Given the description of an element on the screen output the (x, y) to click on. 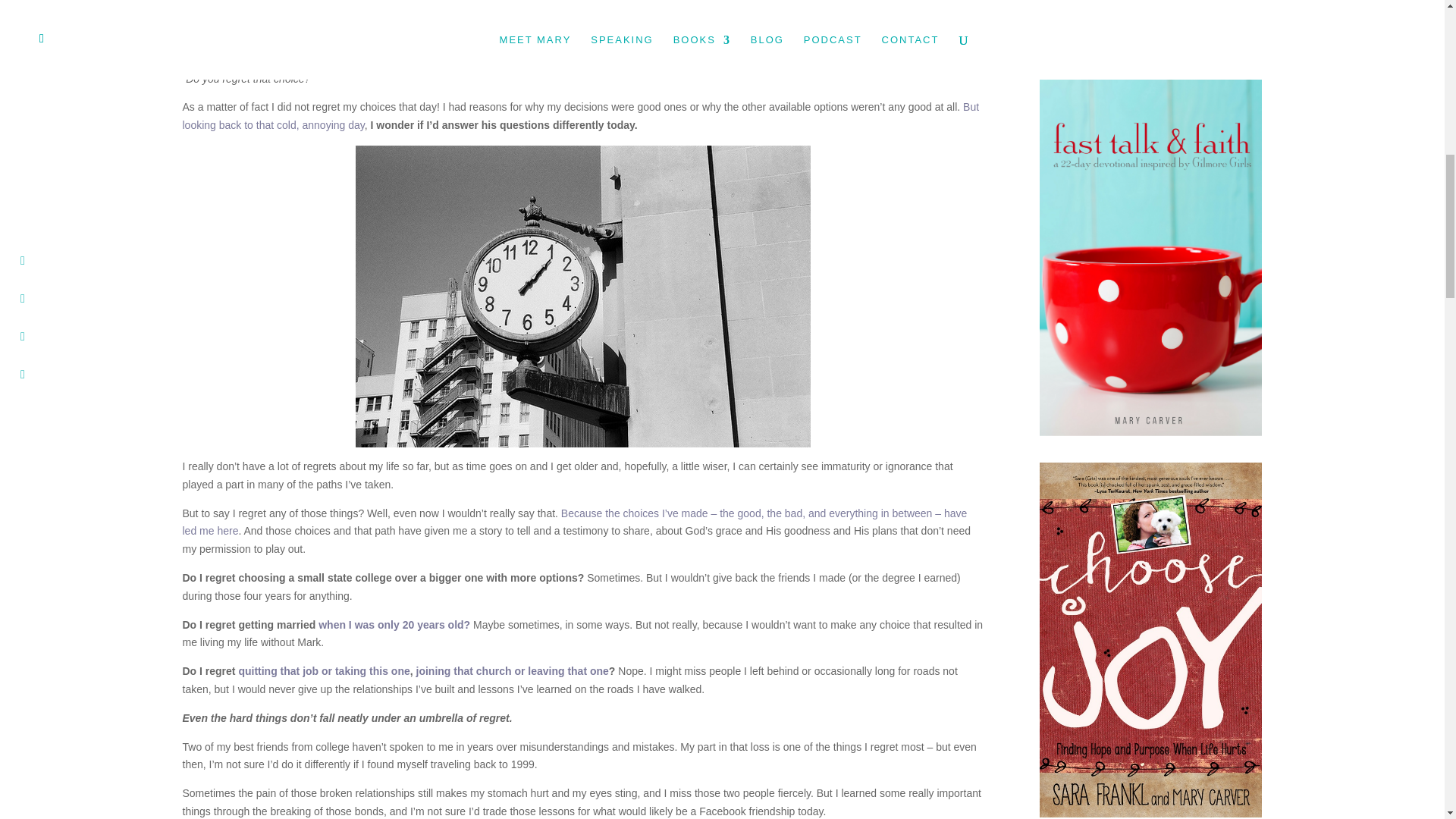
But looking back to that cold, annoying day (580, 115)
joining that church or leaving that one (511, 671)
when I was only 20 years old? (394, 624)
quitting that job or taking this one (323, 671)
